Given the description of an element on the screen output the (x, y) to click on. 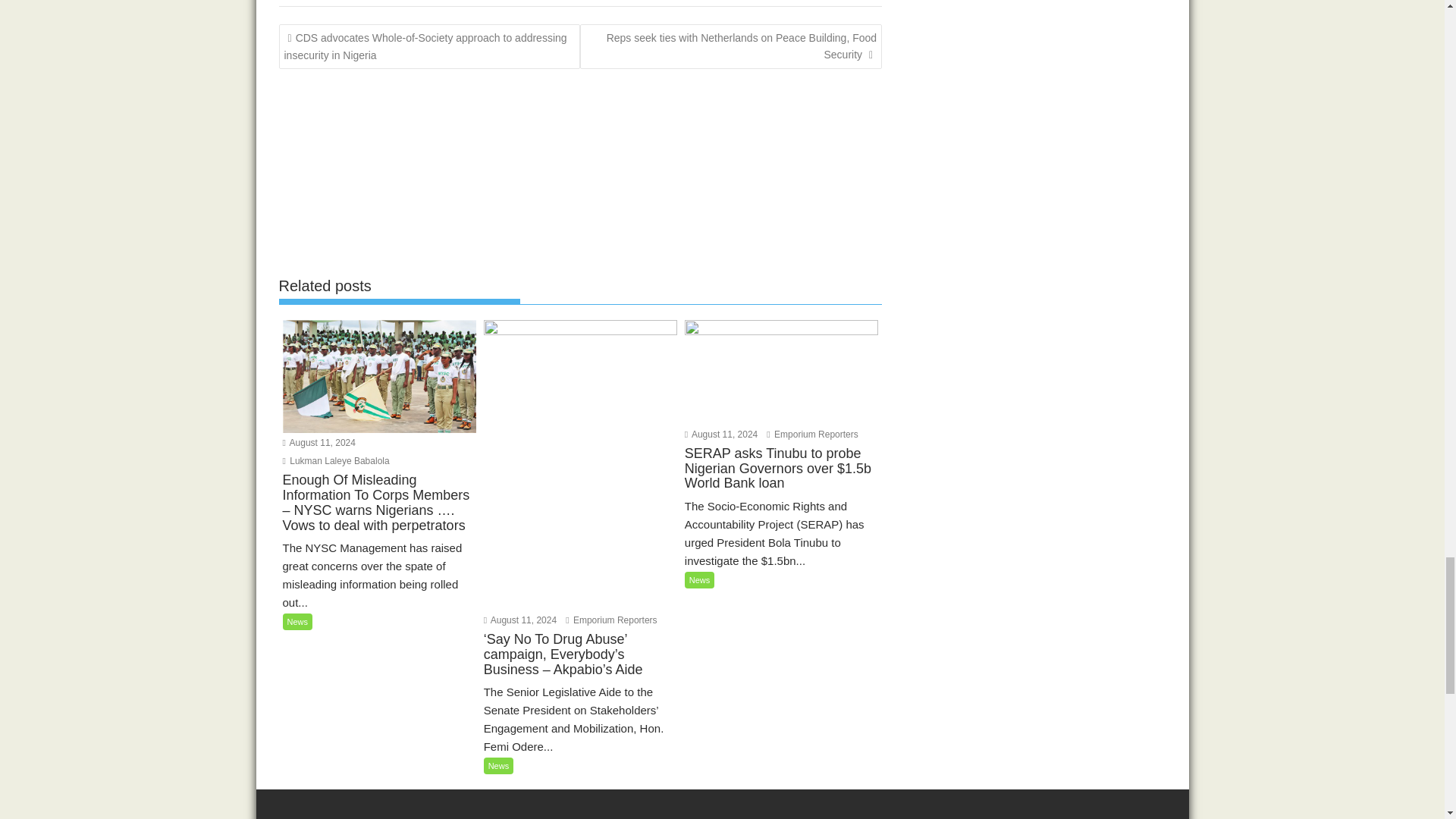
Lukman Laleye Babalola (335, 460)
Emporium Reporters (611, 620)
Emporium Reporters (812, 434)
